Given the description of an element on the screen output the (x, y) to click on. 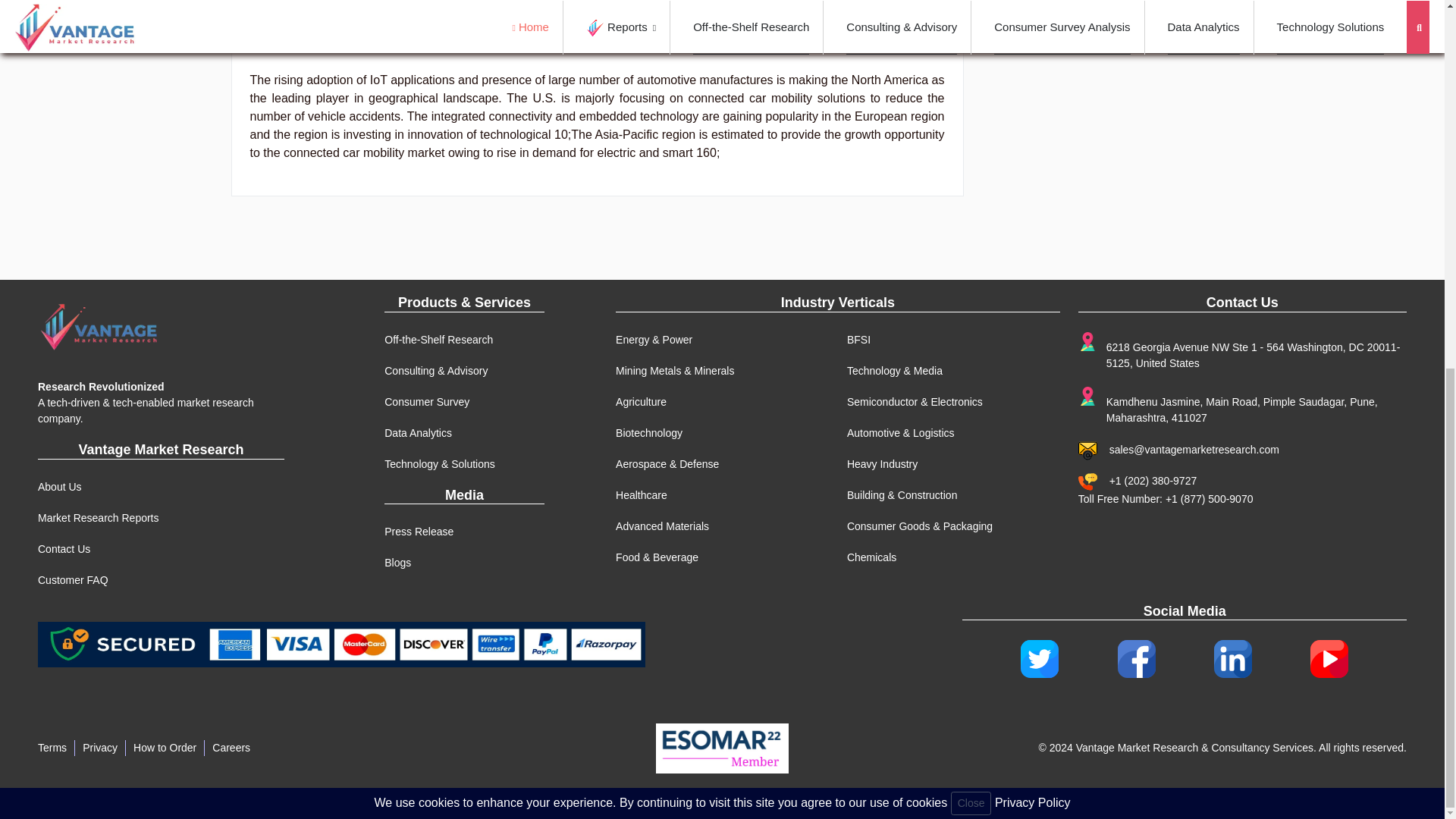
Consumer Survey (426, 401)
Data Analytics (417, 432)
Blogs (397, 562)
Off-the-Shelf Research (438, 339)
Contact Us (63, 548)
Customer FAQ (72, 580)
Market Research Reports (97, 517)
Press Release (418, 531)
